Given the description of an element on the screen output the (x, y) to click on. 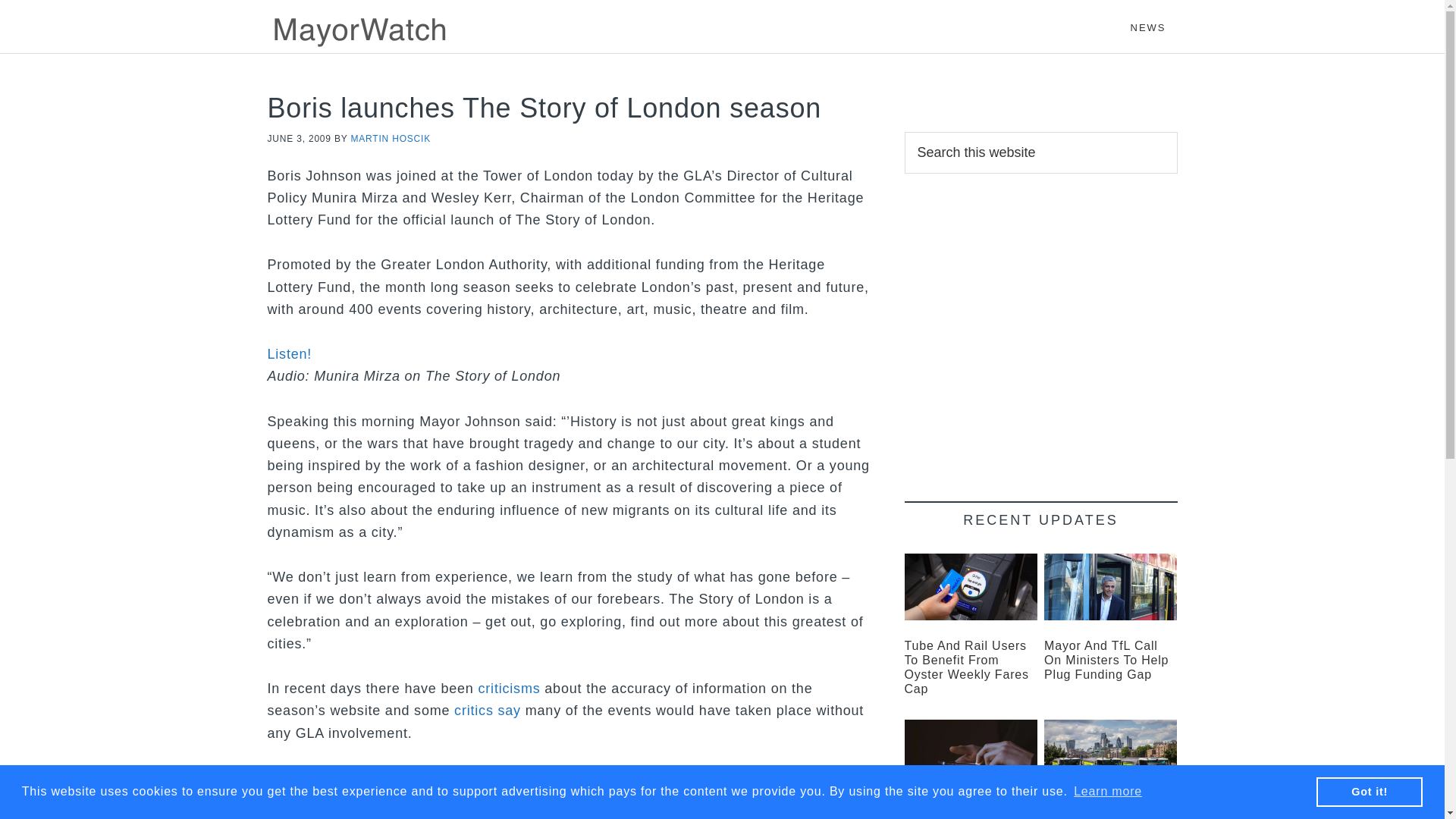
Click to print (460, 815)
Tube to get full mobile phone coverage from 2024 (970, 752)
Click to email a link to a friend (491, 815)
Click to share on Facebook (309, 815)
Click to share on Pinterest (369, 815)
criticisms (508, 688)
Tube And Rail Users To Benefit From Oyster Weekly Fares Cap (965, 667)
Advertisement (1039, 325)
Mayor And TfL Call On Ministers To Help Plug Funding Gap (1106, 659)
Got it! (1369, 791)
MARTIN HOSCIK (390, 138)
Tube and rail users to benefit from Oyster weekly fares cap (965, 667)
